Given the description of an element on the screen output the (x, y) to click on. 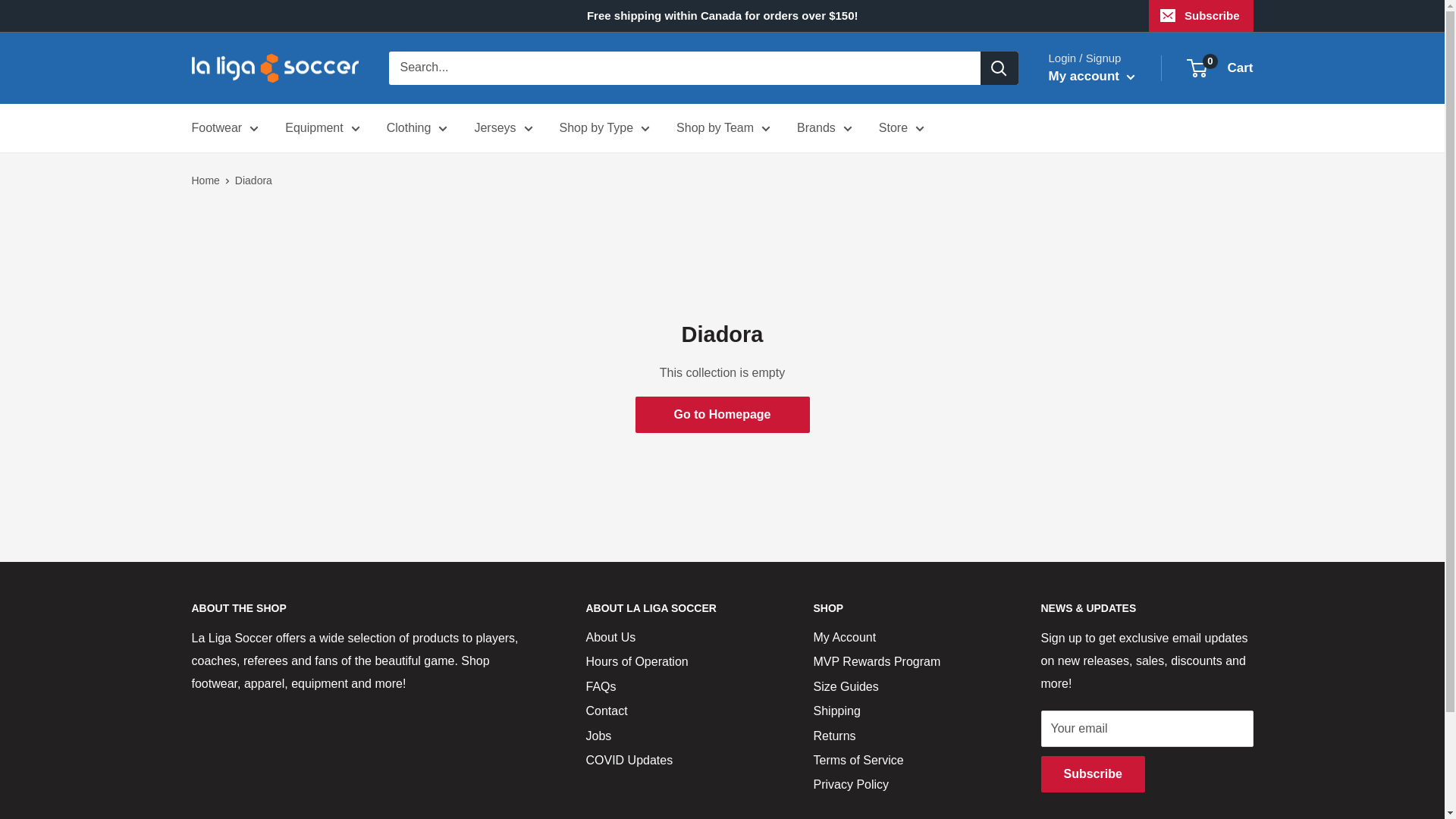
Smile.io Rewards Program Launcher (1358, 780)
Subscribe (1200, 15)
